Given the description of an element on the screen output the (x, y) to click on. 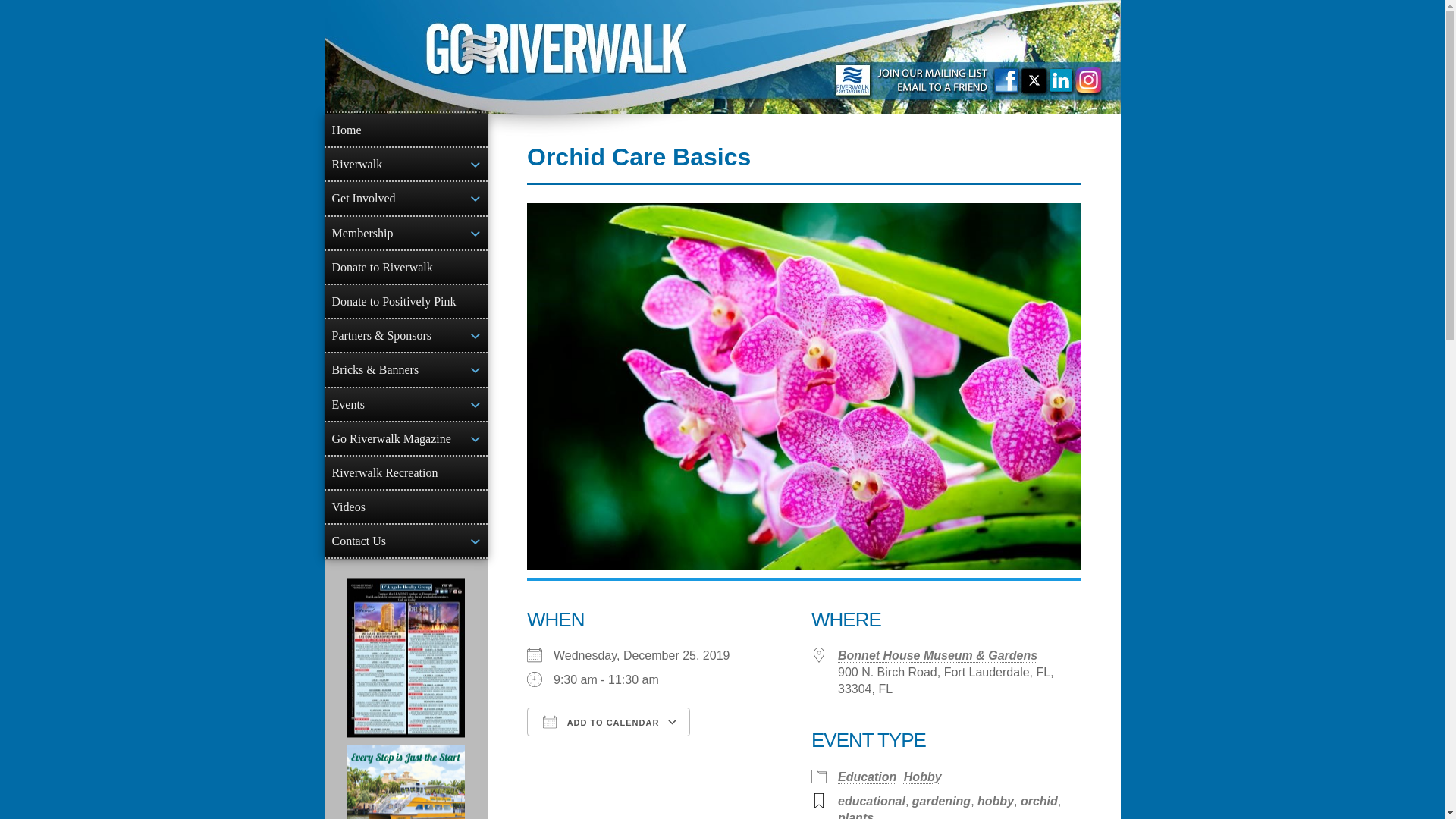
Home (405, 129)
educational (871, 800)
plants (855, 815)
orchid (1039, 800)
Hobby (923, 776)
ADD TO CALENDAR (608, 721)
hobby (994, 800)
Education (867, 776)
gardening (941, 800)
Get Involved (405, 197)
Google Calendar (751, 748)
Riverwalk (405, 164)
Download ICS (601, 748)
